Given the description of an element on the screen output the (x, y) to click on. 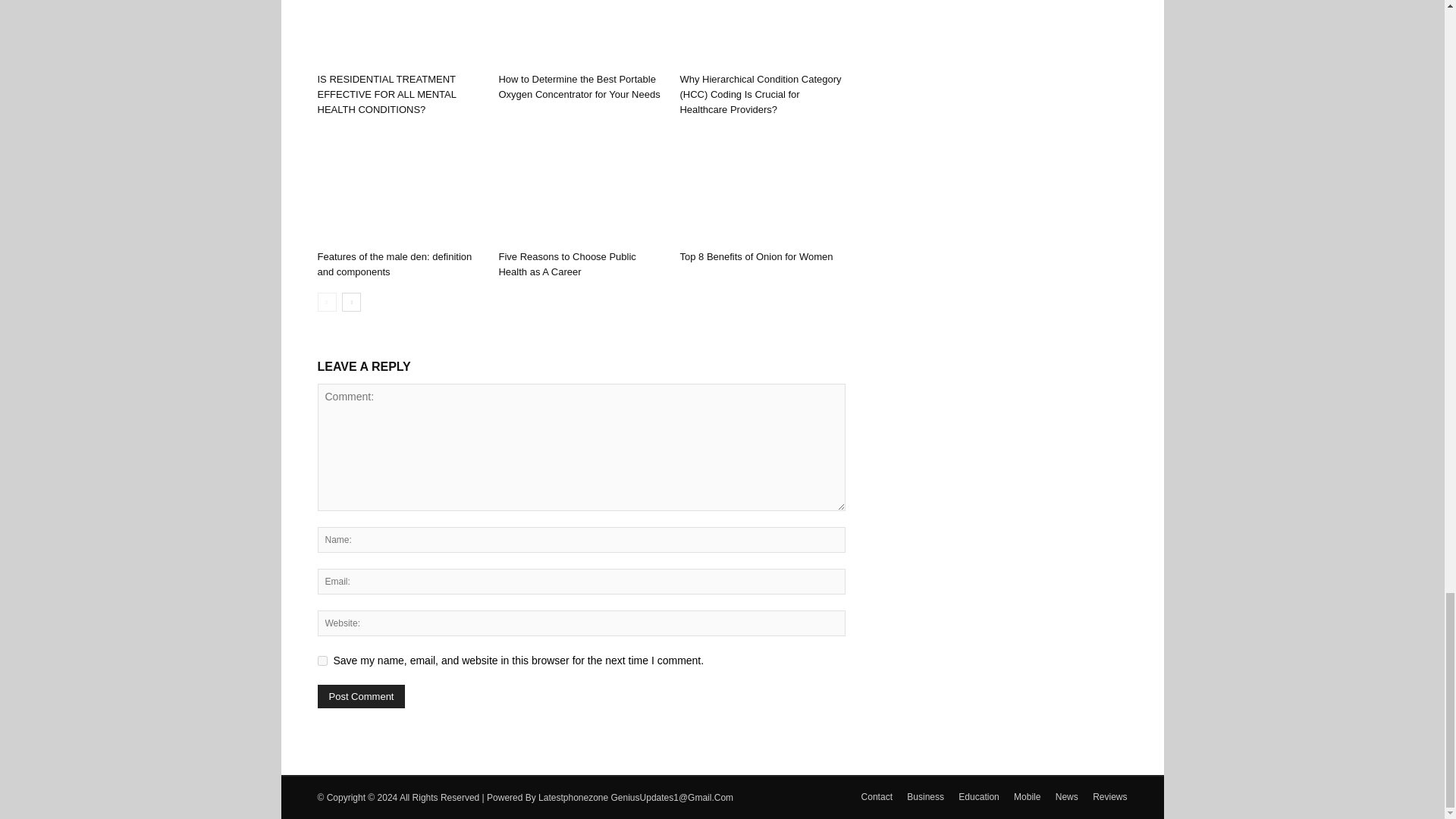
yes (321, 660)
Post Comment (360, 696)
